Given the description of an element on the screen output the (x, y) to click on. 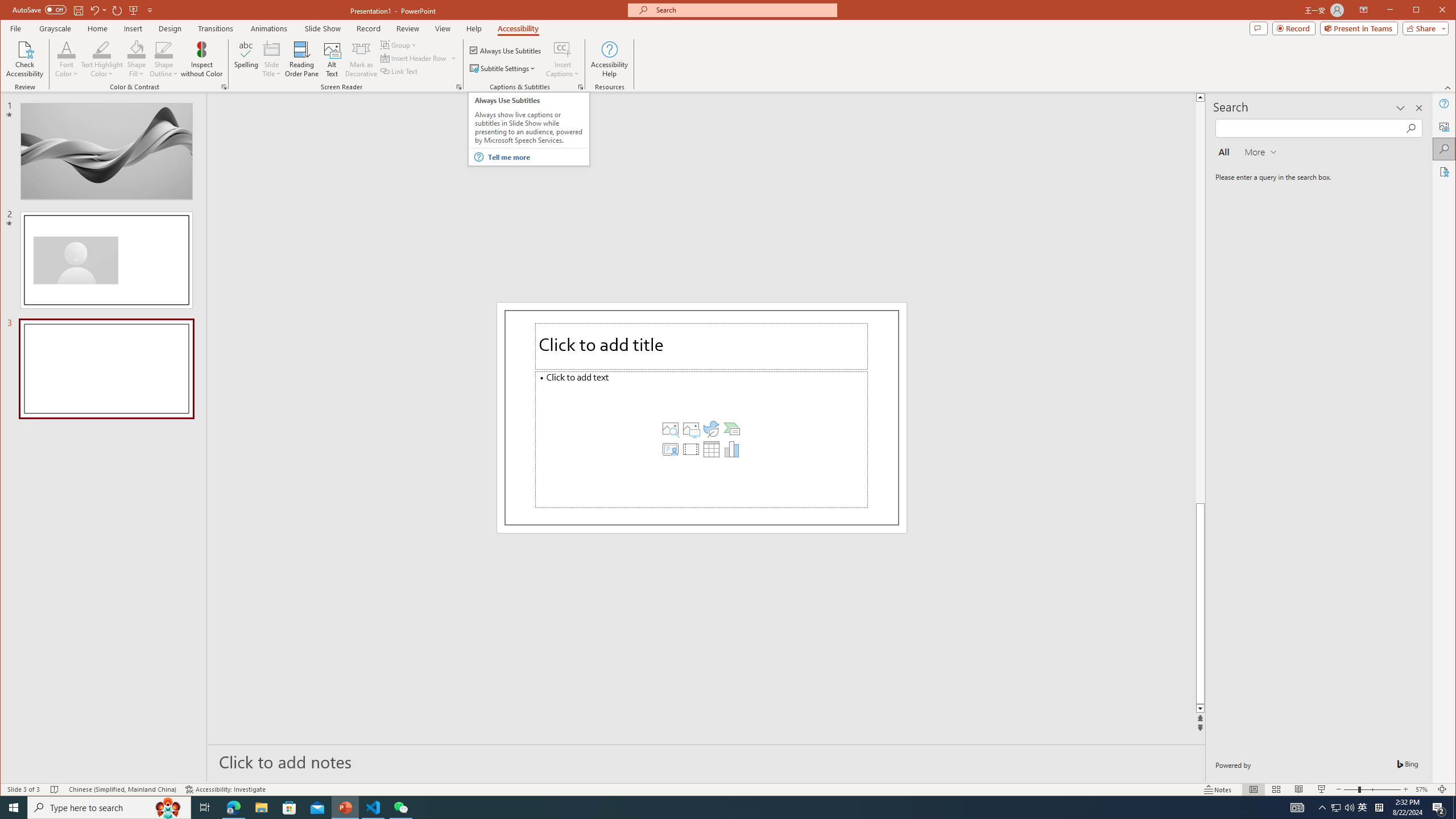
Content Placeholder (701, 439)
Grayscale (55, 28)
Zoom 57% (1422, 789)
